Given the description of an element on the screen output the (x, y) to click on. 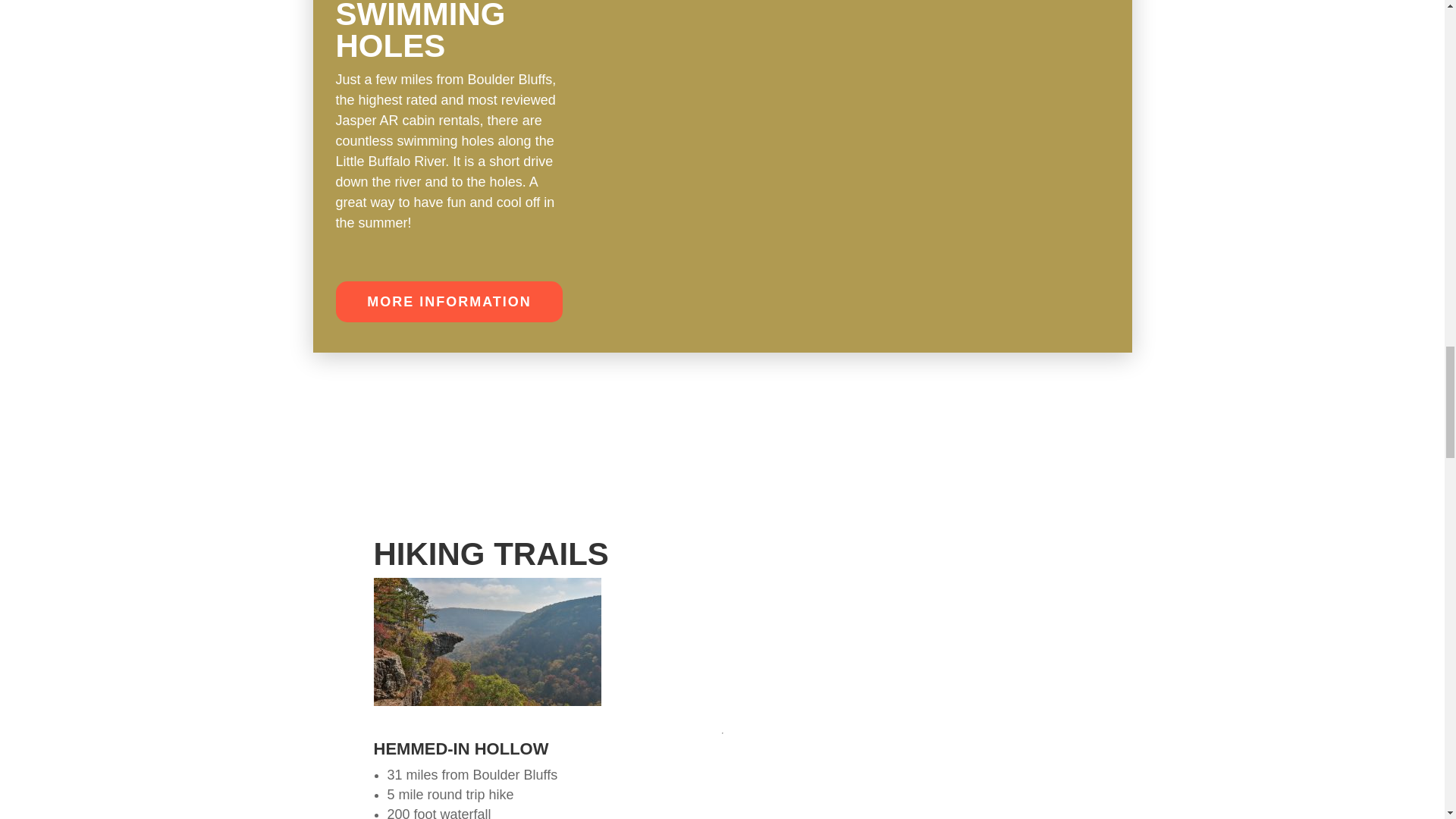
MORE INFORMATION (448, 301)
